Given the description of an element on the screen output the (x, y) to click on. 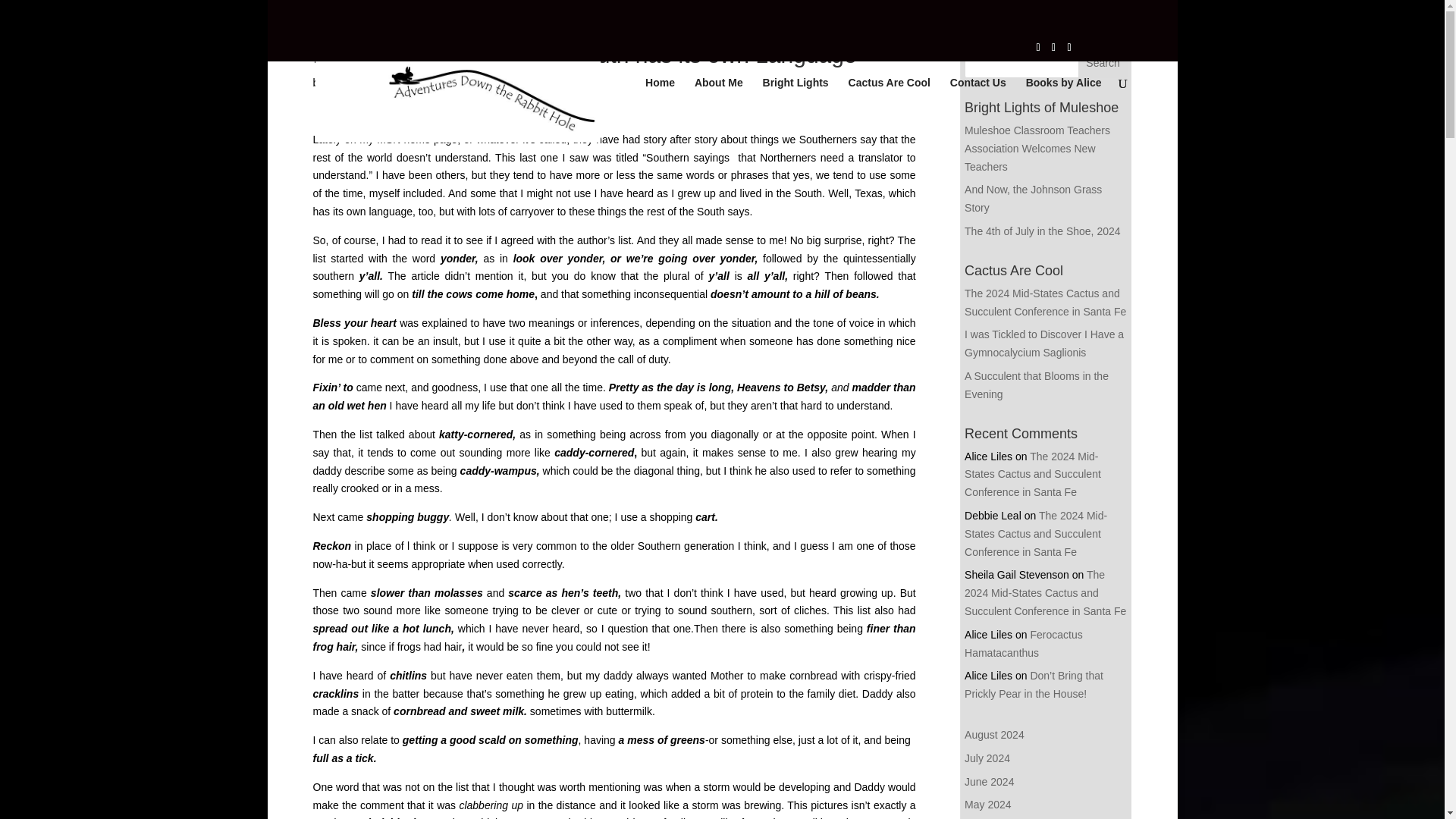
Permanent link to A Succulent that Blooms in the Evening (1035, 385)
Ferocactus Hamatacanthus (1023, 643)
Bright Lights (795, 109)
Permanent link to The 4th of July in the Shoe, 2024 (1041, 231)
A Succulent that Blooms in the Evening (1035, 385)
I was Tickled to Discover I Have a Gymnocalycium Saglionis (1043, 343)
